Given the description of an element on the screen output the (x, y) to click on. 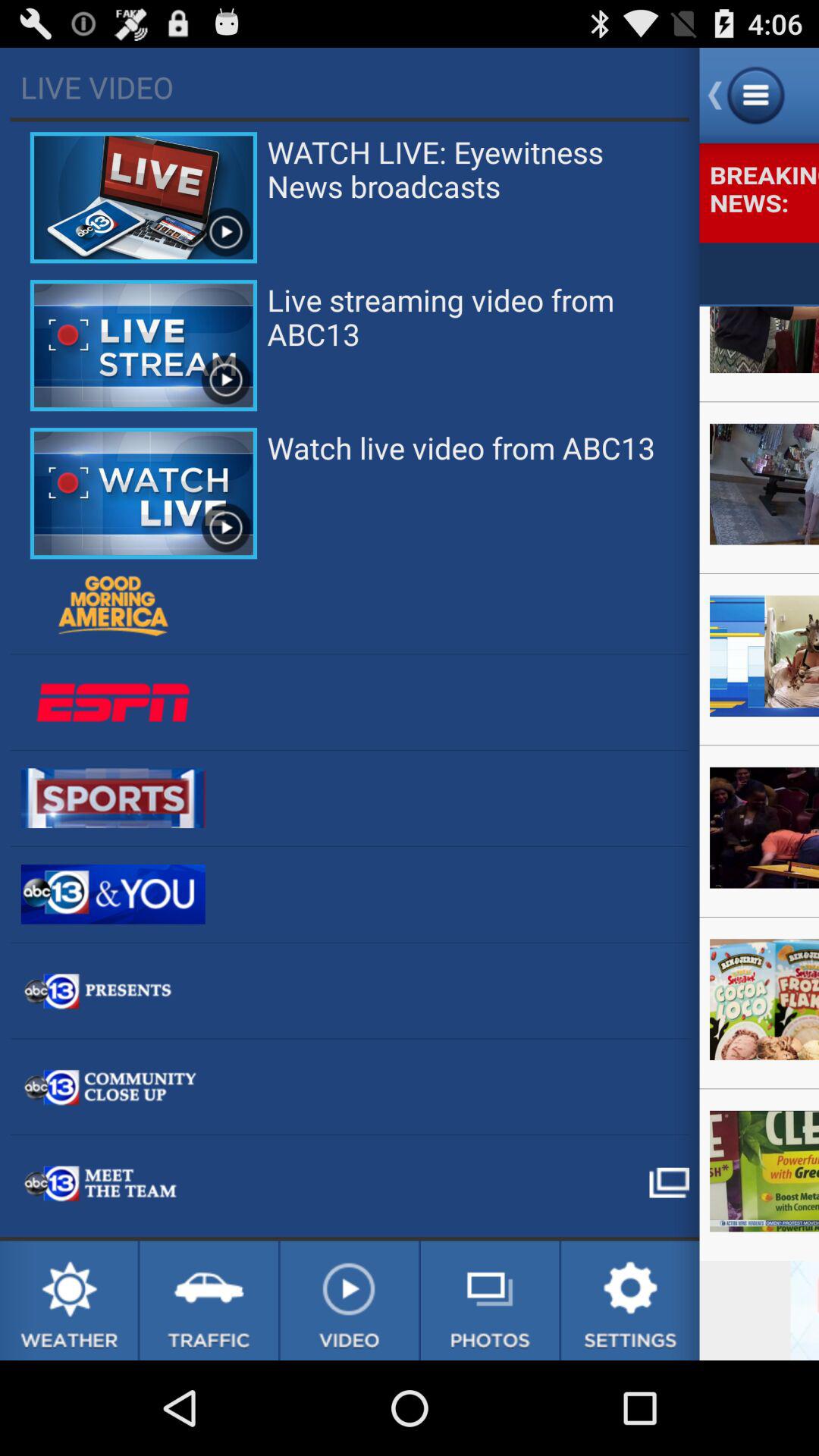
watch videos (349, 1300)
